Given the description of an element on the screen output the (x, y) to click on. 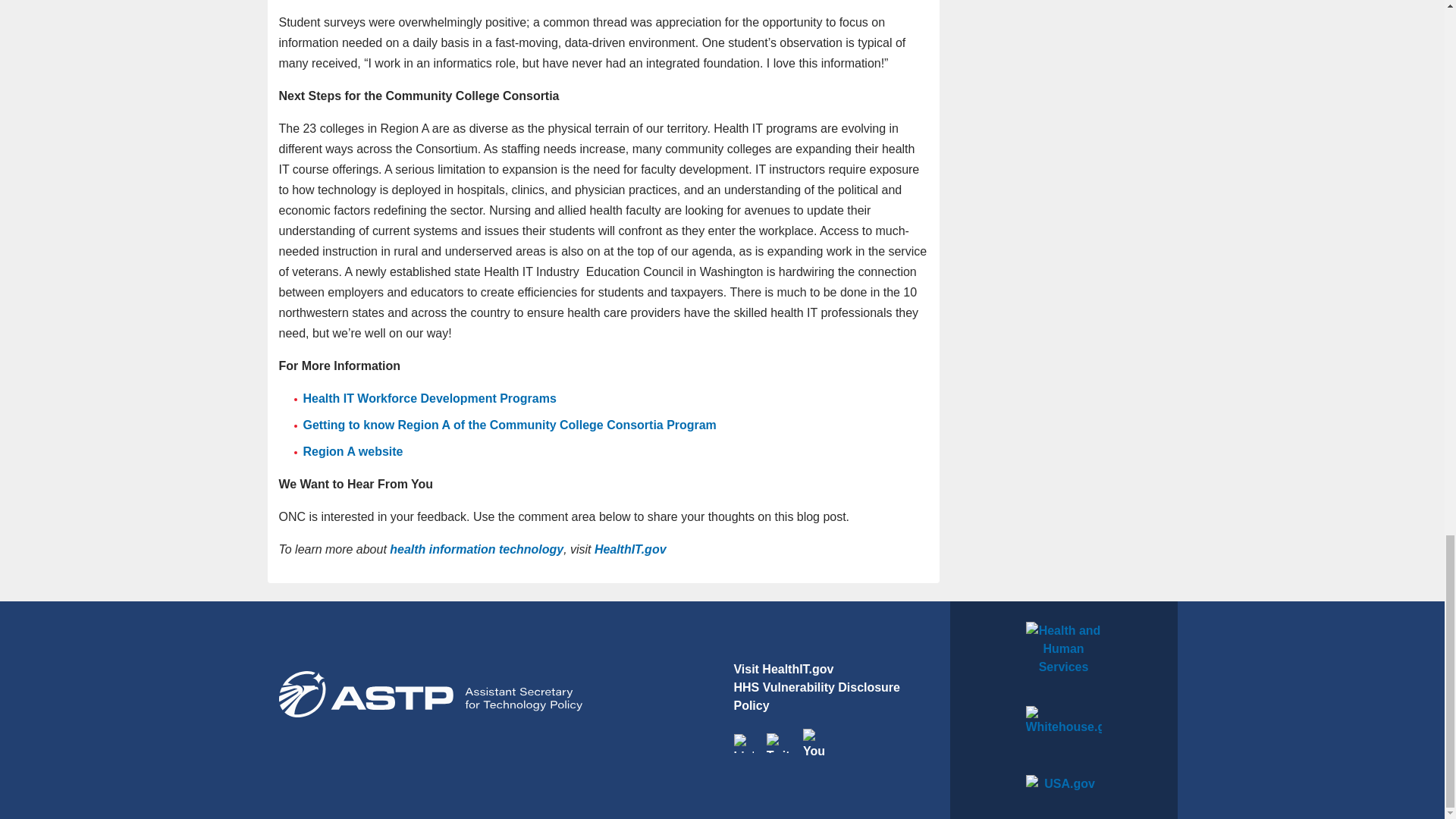
opens new window to LinkedIn (743, 742)
USA.gov (1062, 785)
Health IT Workforce Development Programs (429, 398)
opens new window to Twitter (778, 742)
health information technology (476, 549)
Region A website (352, 451)
Whitehouse.gov (1062, 730)
HealthIT.gov (630, 549)
Health and Human Services (1062, 654)
